Given the description of an element on the screen output the (x, y) to click on. 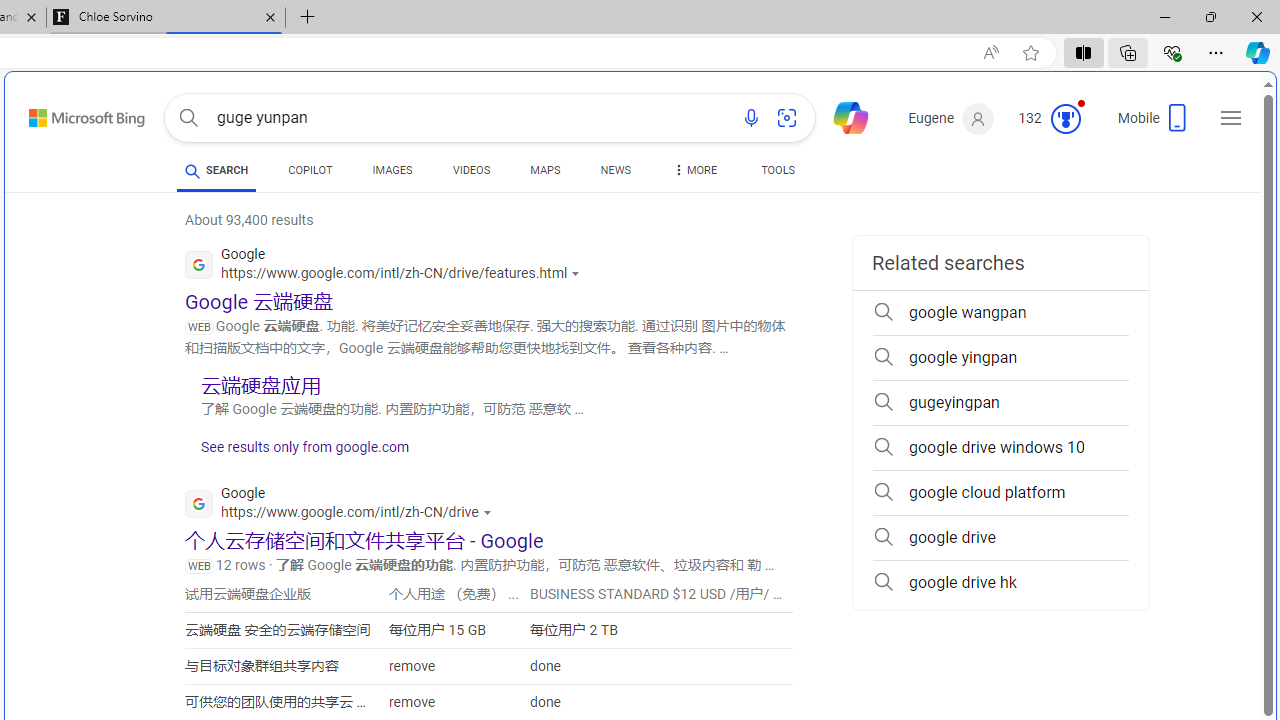
TOOLS (777, 173)
IMAGES (392, 170)
Chat (842, 116)
MAPS (545, 170)
SEARCH (216, 170)
Class: outer-circle-animation (1065, 118)
Actions for this site (489, 512)
google drive (1000, 538)
Class: medal-svg-animation (1065, 118)
Search button (188, 117)
Settings and more (Alt+F) (1215, 52)
Search using voice (751, 117)
Eugene (950, 119)
gugeyingpan (1000, 402)
Dropdown Menu (693, 170)
